Given the description of an element on the screen output the (x, y) to click on. 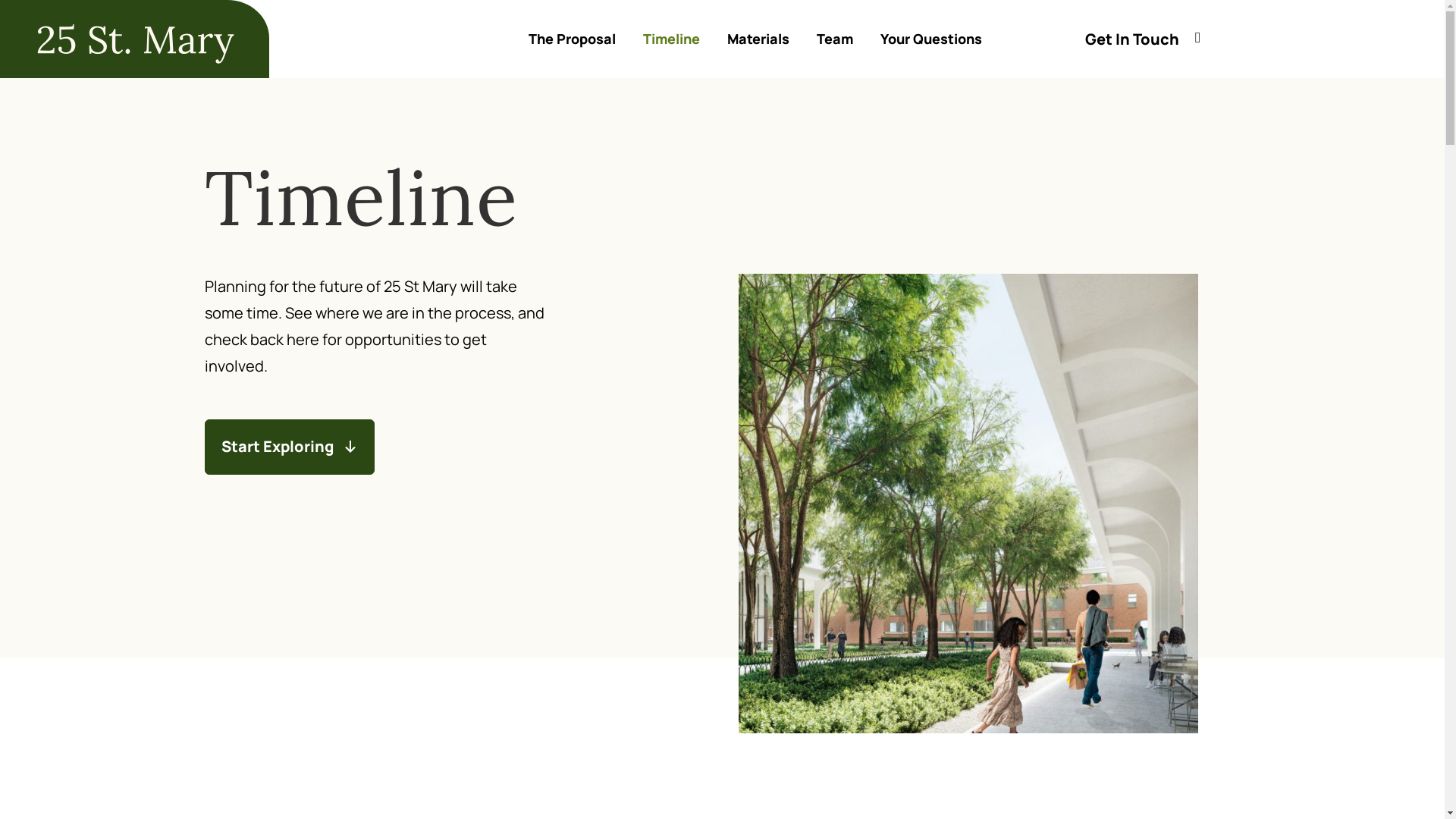
Timeline Element type: text (671, 38)
25 St. Mary (1) Element type: hover (134, 39)
Materials Element type: text (758, 38)
The Proposal Element type: text (571, 38)
Get In Touch Element type: text (1132, 38)
Your Questions Element type: text (931, 38)
Team Element type: text (834, 38)
Start Exploring Element type: text (289, 446)
